Given the description of an element on the screen output the (x, y) to click on. 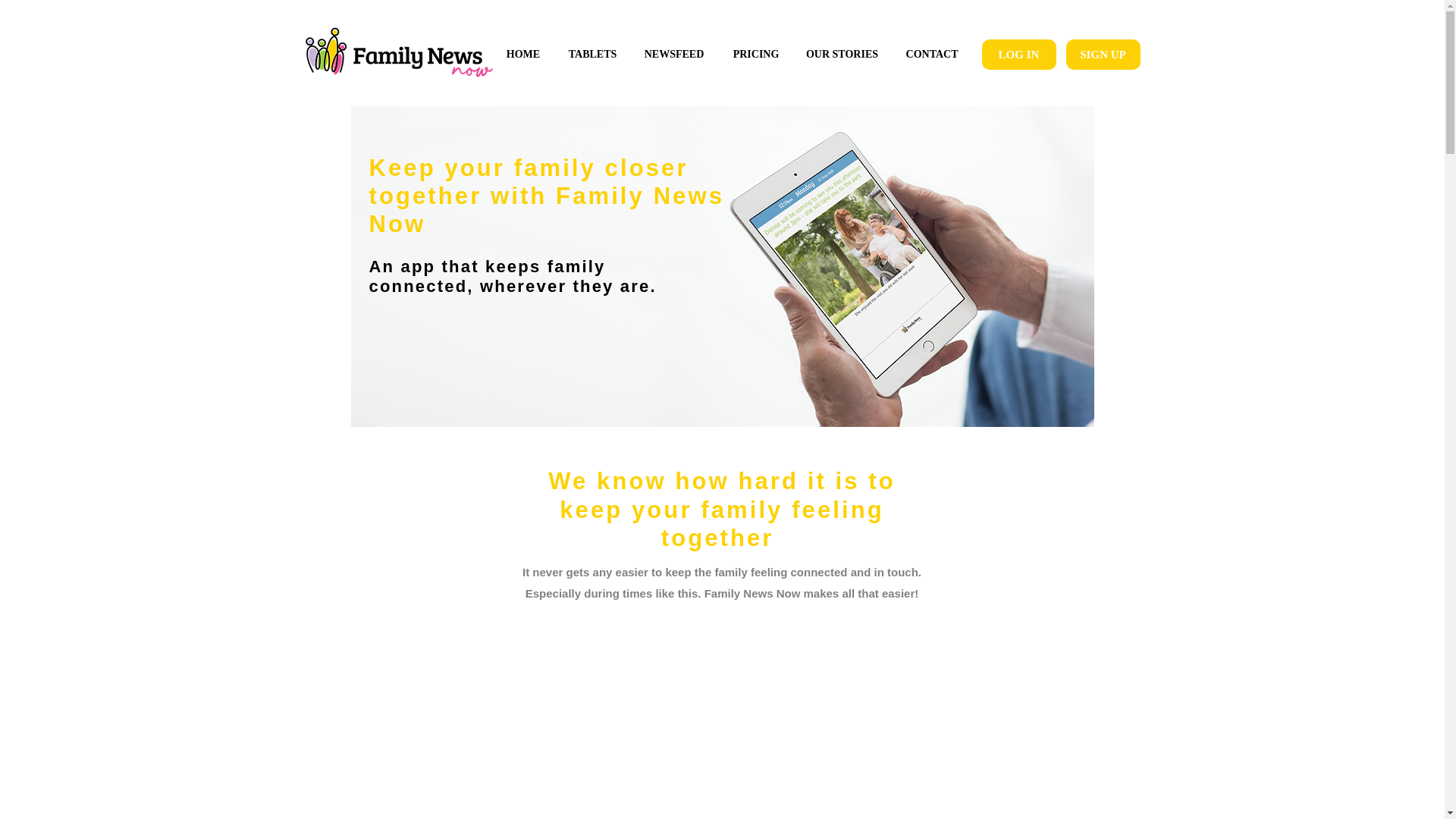
SIGN UP (1102, 54)
TABLETS (591, 54)
NEWSFEED (672, 54)
HOME (524, 54)
OUR STORIES (841, 54)
CONTACT (930, 54)
LOG IN (1018, 54)
PRICING (756, 54)
